Given the description of an element on the screen output the (x, y) to click on. 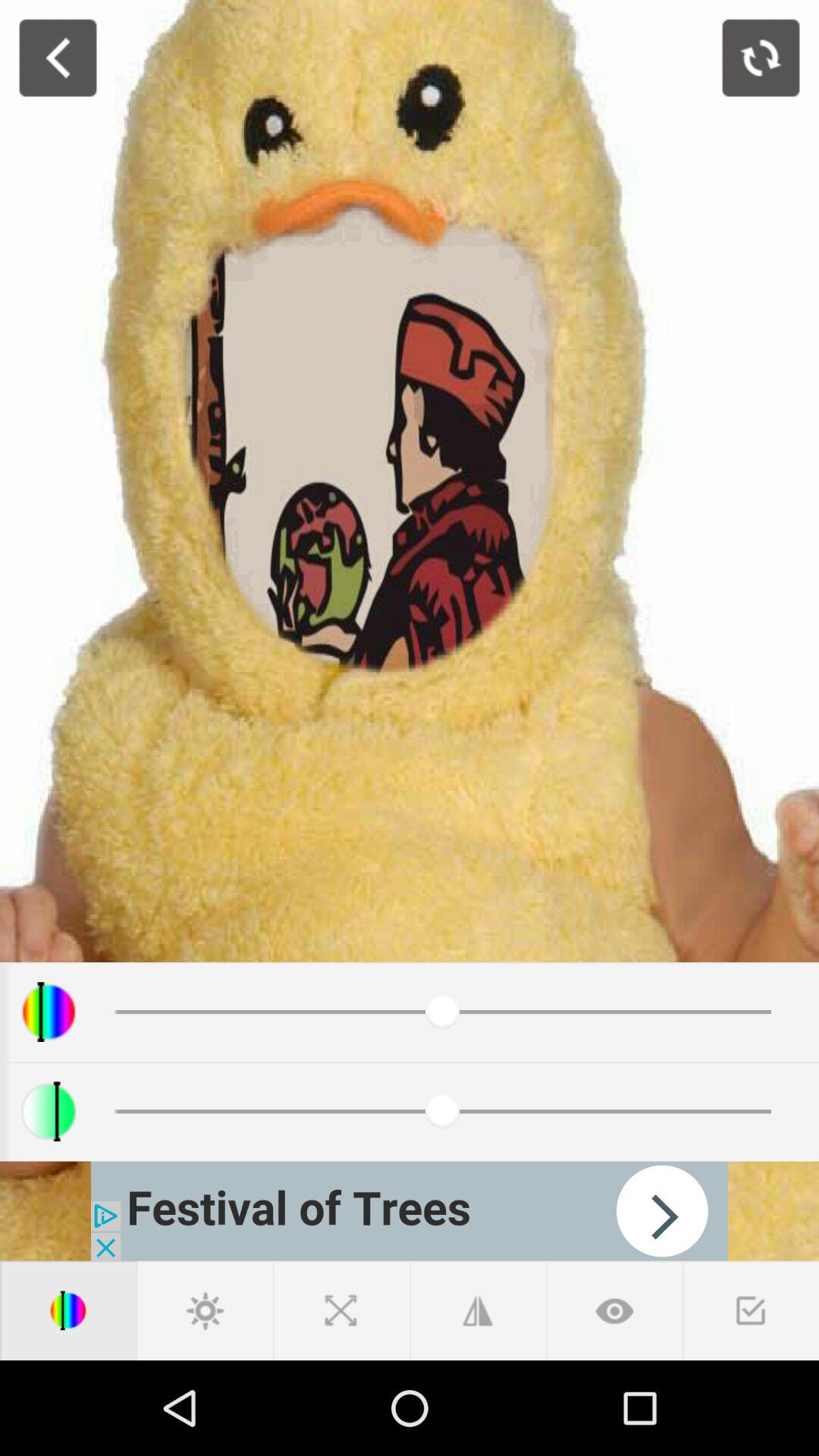
zooming option (341, 1310)
